Given the description of an element on the screen output the (x, y) to click on. 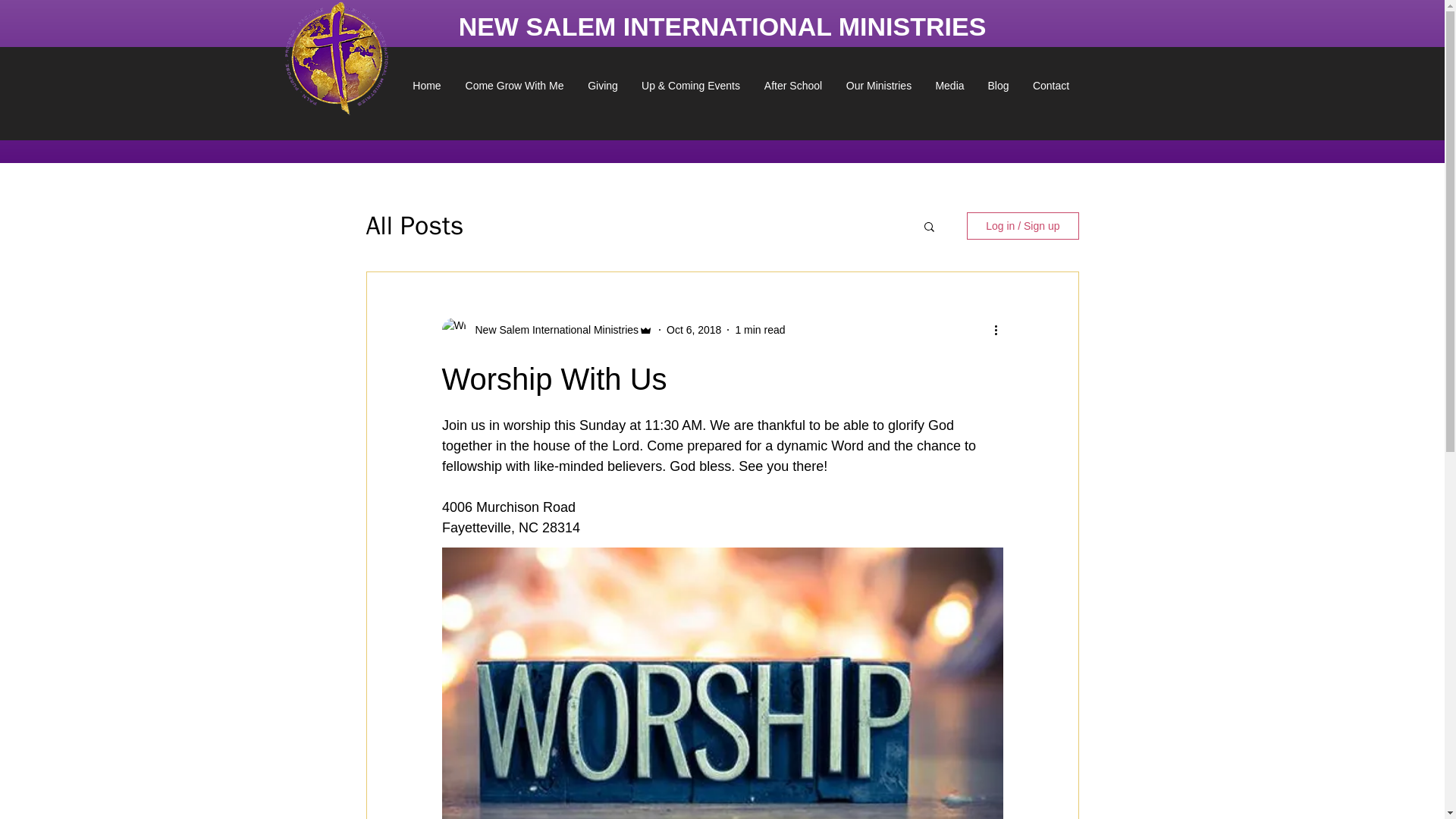
Media (949, 85)
Oct 6, 2018 (693, 328)
New Salem International Ministries (552, 329)
Home (426, 85)
Contact (1050, 85)
Our Ministries (878, 85)
1 min read (759, 328)
Come Grow With Me (514, 85)
Giving (602, 85)
After School (793, 85)
